Given the description of an element on the screen output the (x, y) to click on. 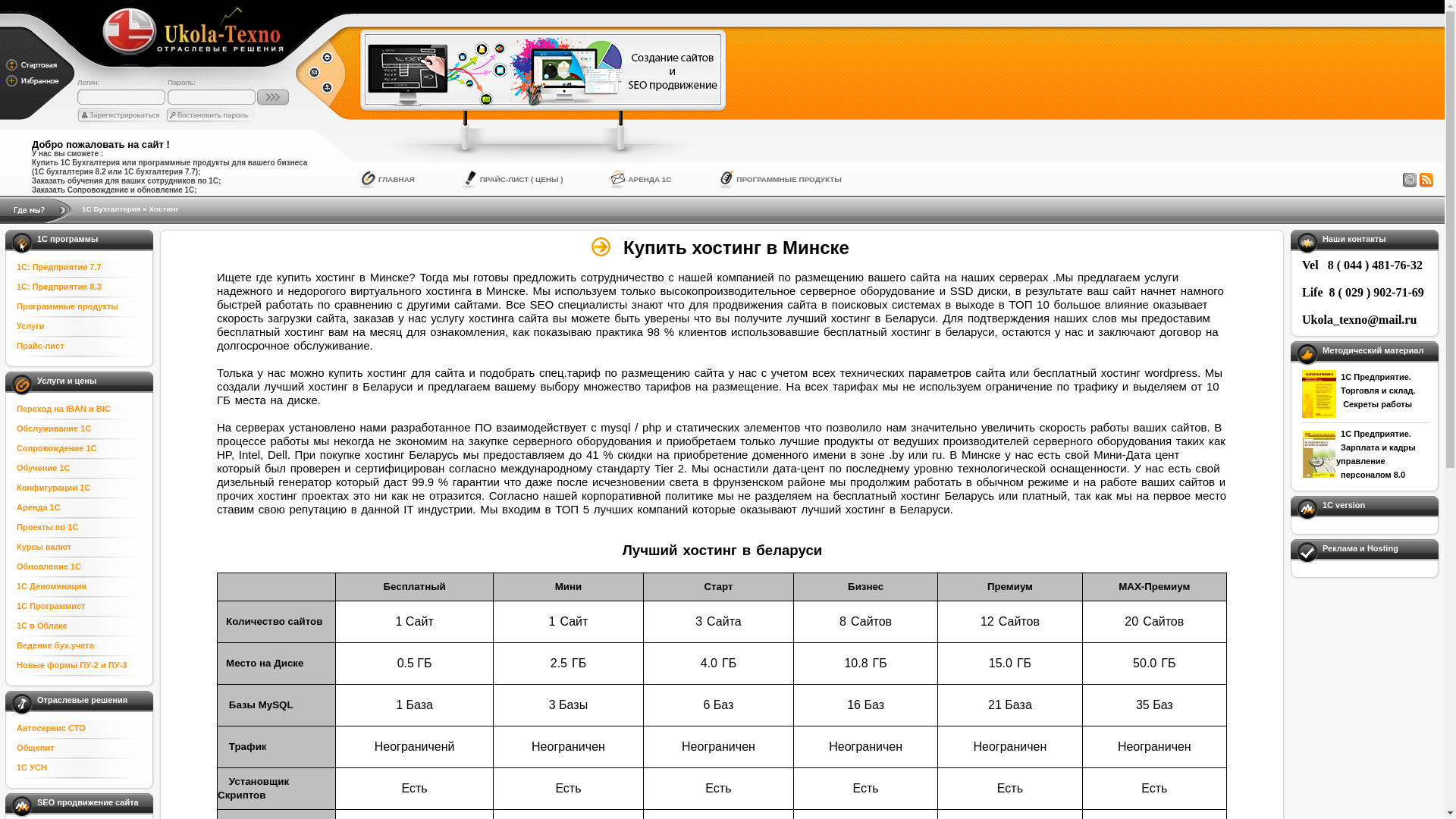
RSS 2.0 Element type: hover (1426, 180)
